Given the description of an element on the screen output the (x, y) to click on. 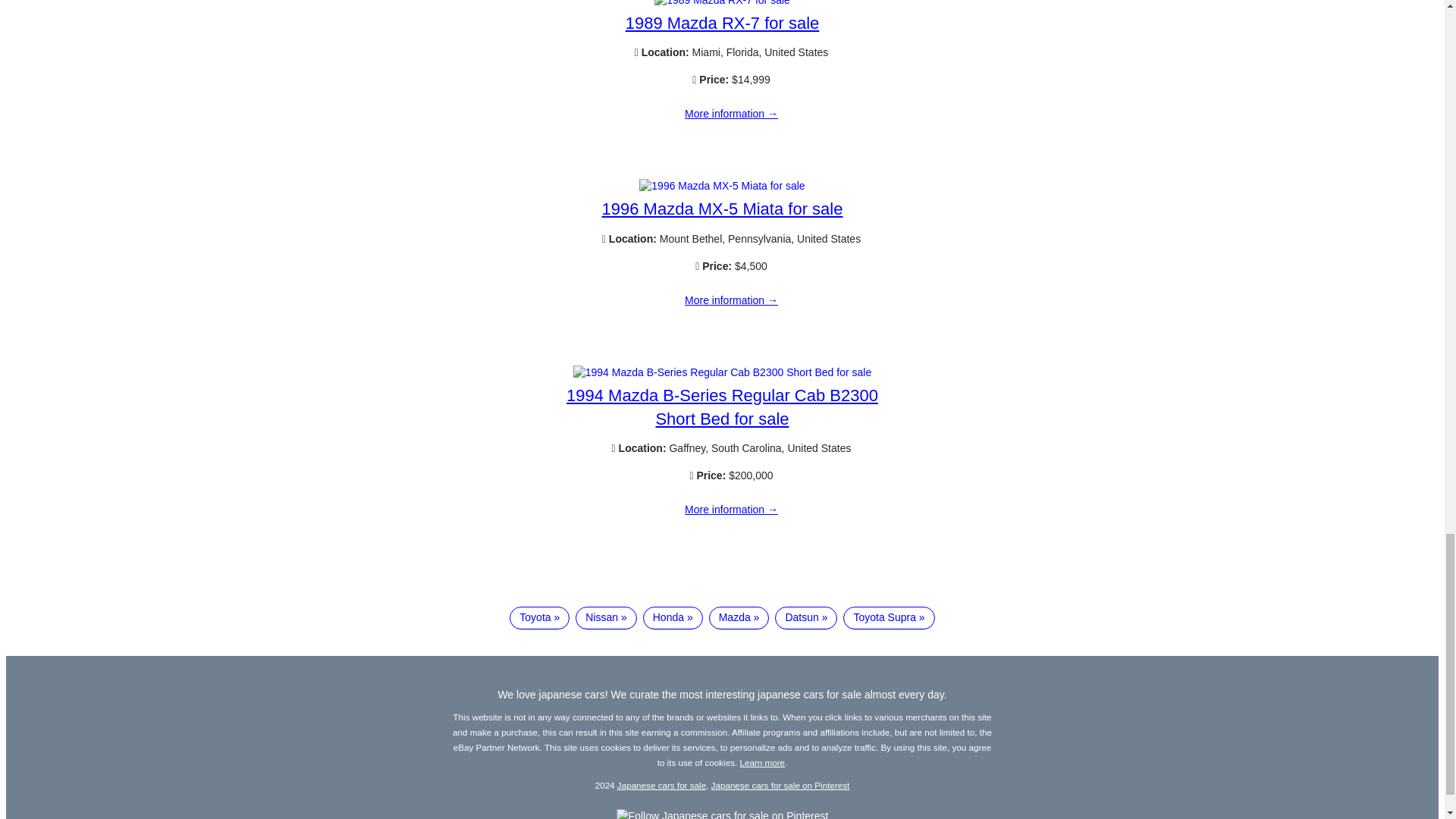
1996 Mazda MX-5 Miata for sale (731, 300)
Nissan (605, 617)
1994 Mazda B-Series Regular Cab B2300 Short Bed for sale (721, 372)
Toyota Supra (888, 617)
1994 Mazda B-Series Regular Cab B2300 Short Bed for sale (721, 406)
Follow Japanese cars for sale on Pinterest (721, 814)
1989 Mazda RX-7 for sale (721, 2)
Japanese cars for sale (661, 785)
Datsun (805, 617)
1996 Mazda MX-5 Miata for sale (722, 208)
